Given the description of an element on the screen output the (x, y) to click on. 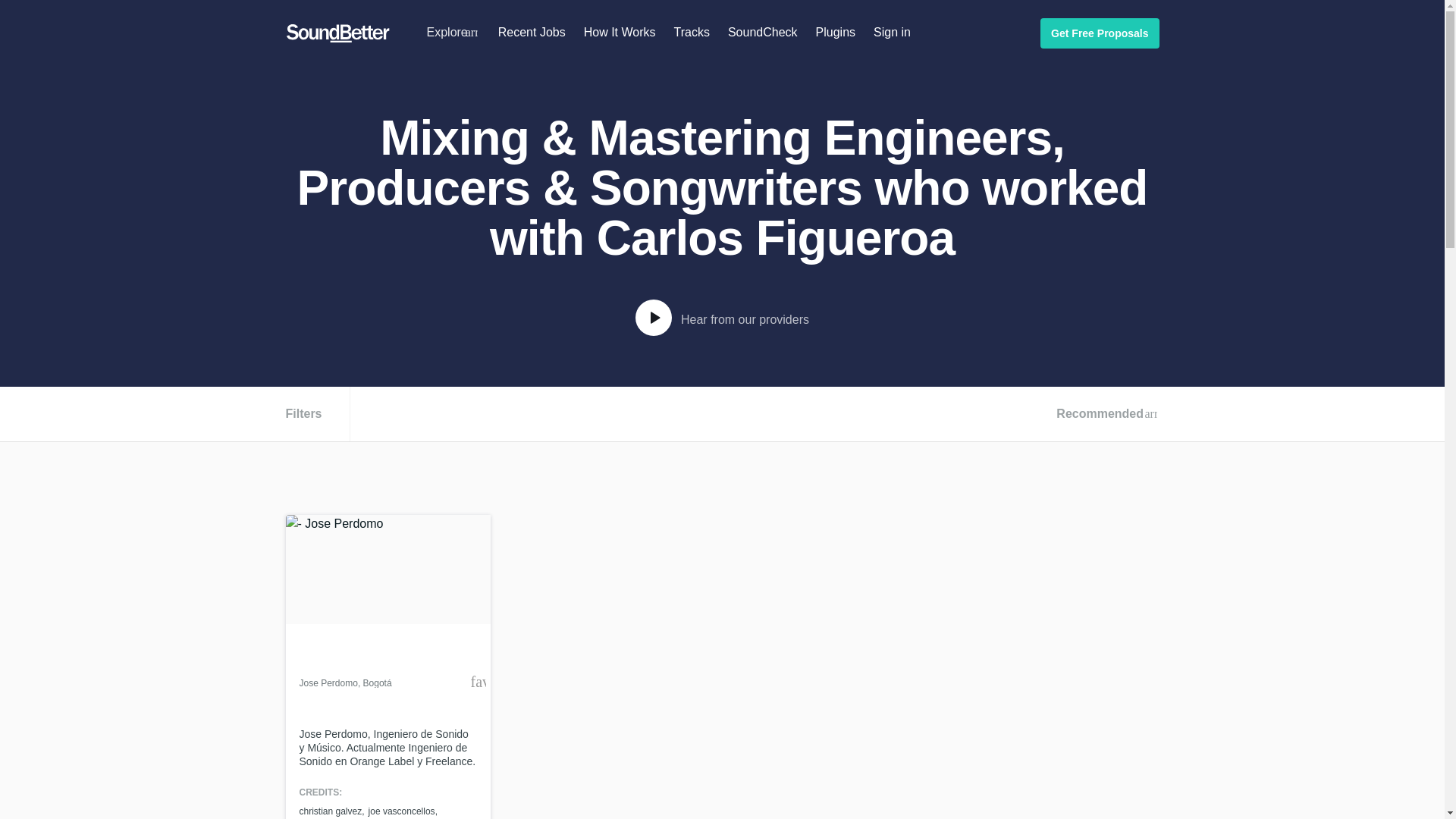
SoundBetter (337, 33)
